Given the description of an element on the screen output the (x, y) to click on. 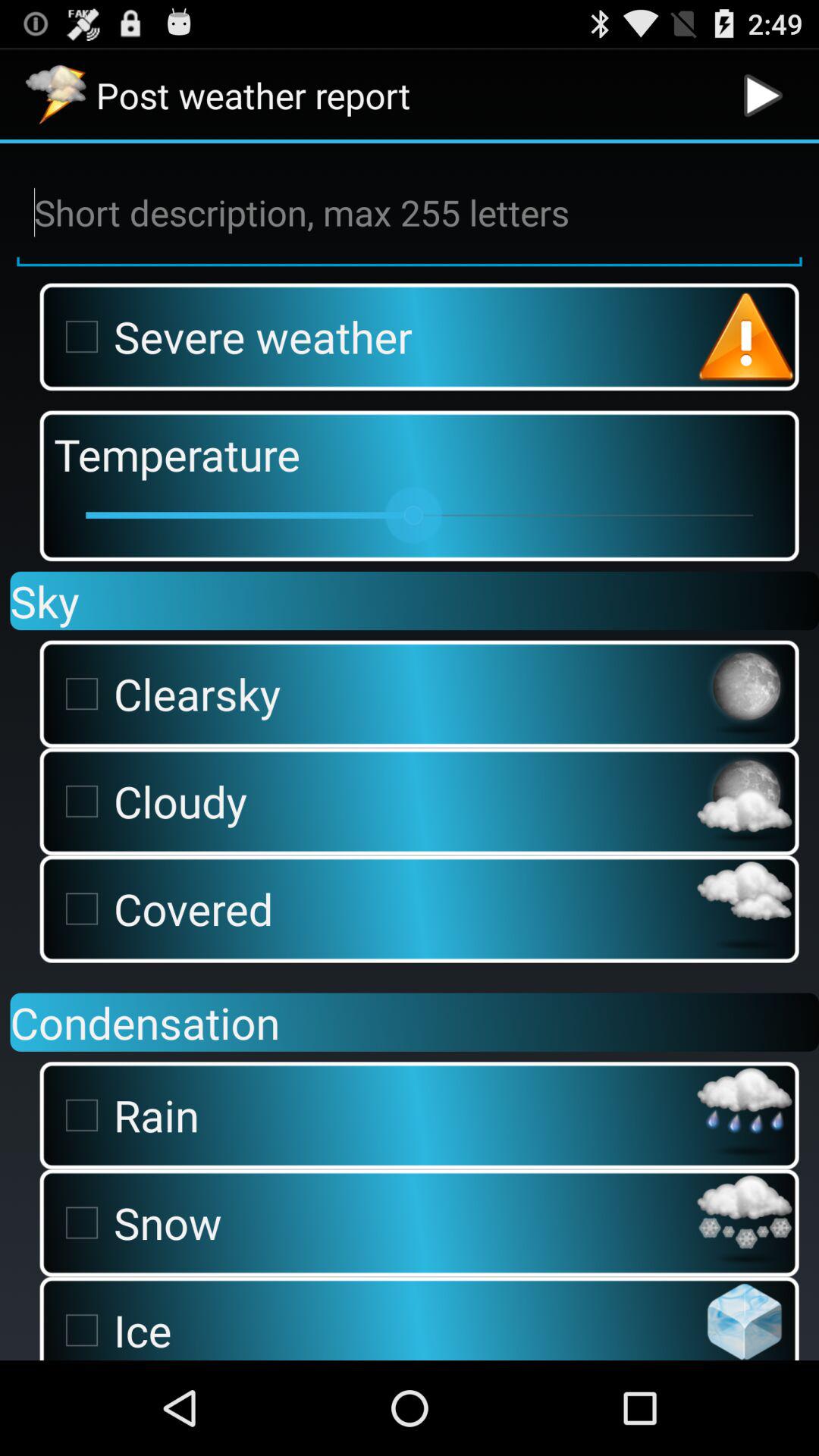
click clearsky checkbox (370, 693)
